Given the description of an element on the screen output the (x, y) to click on. 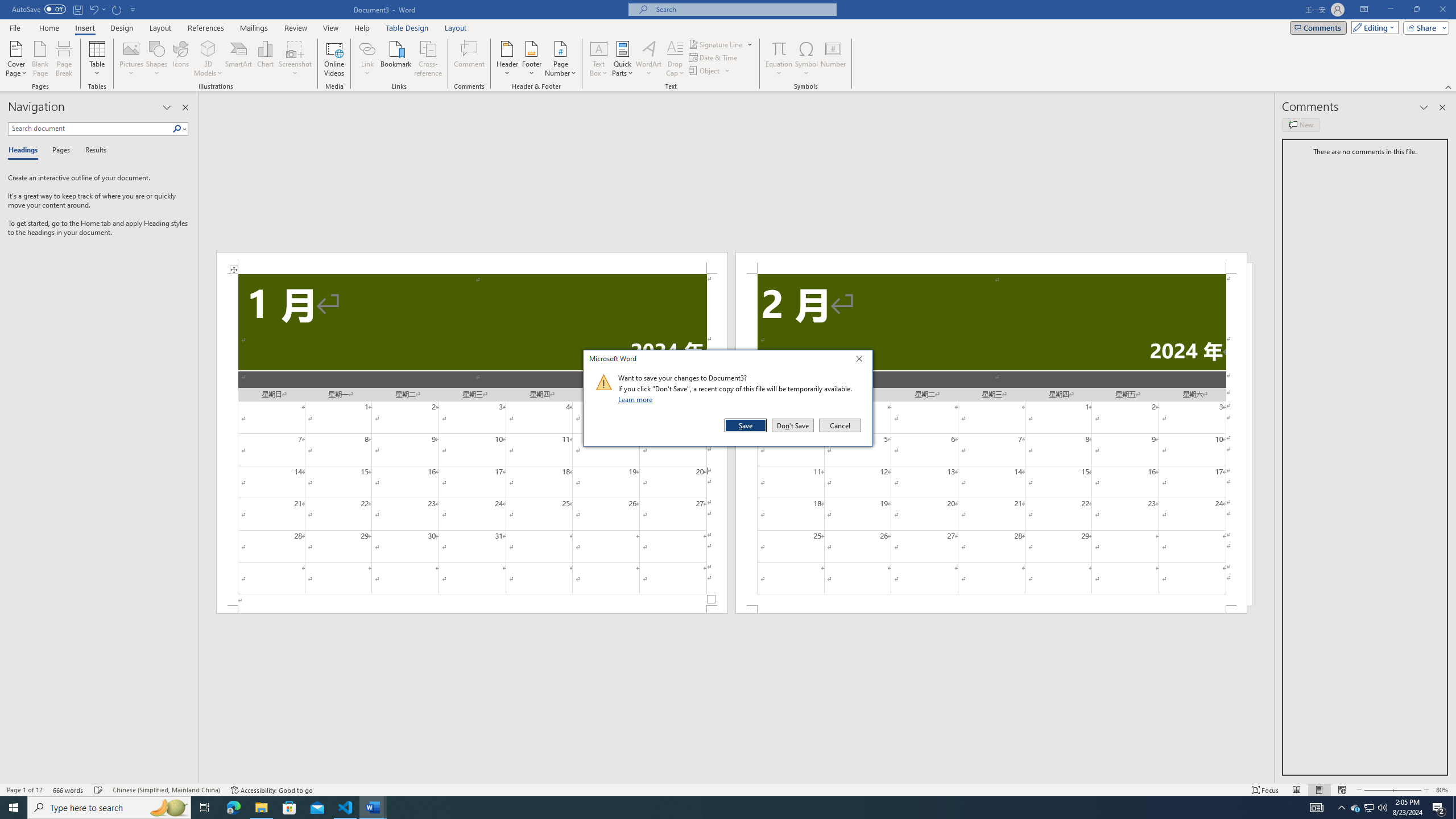
Headings (25, 150)
Spelling and Grammar Check Checking (98, 790)
Table Design (407, 28)
Comment (469, 58)
Signature Line (721, 44)
File Explorer - 1 running window (261, 807)
Word Count 666 words (68, 790)
Class: NetUIScrollBar (736, 778)
References (205, 28)
Action Center, 2 new notifications (1439, 807)
Bookmark... (396, 58)
Collapse the Ribbon (1448, 86)
Object... (705, 69)
Footer -Section 1- (471, 609)
